Given the description of an element on the screen output the (x, y) to click on. 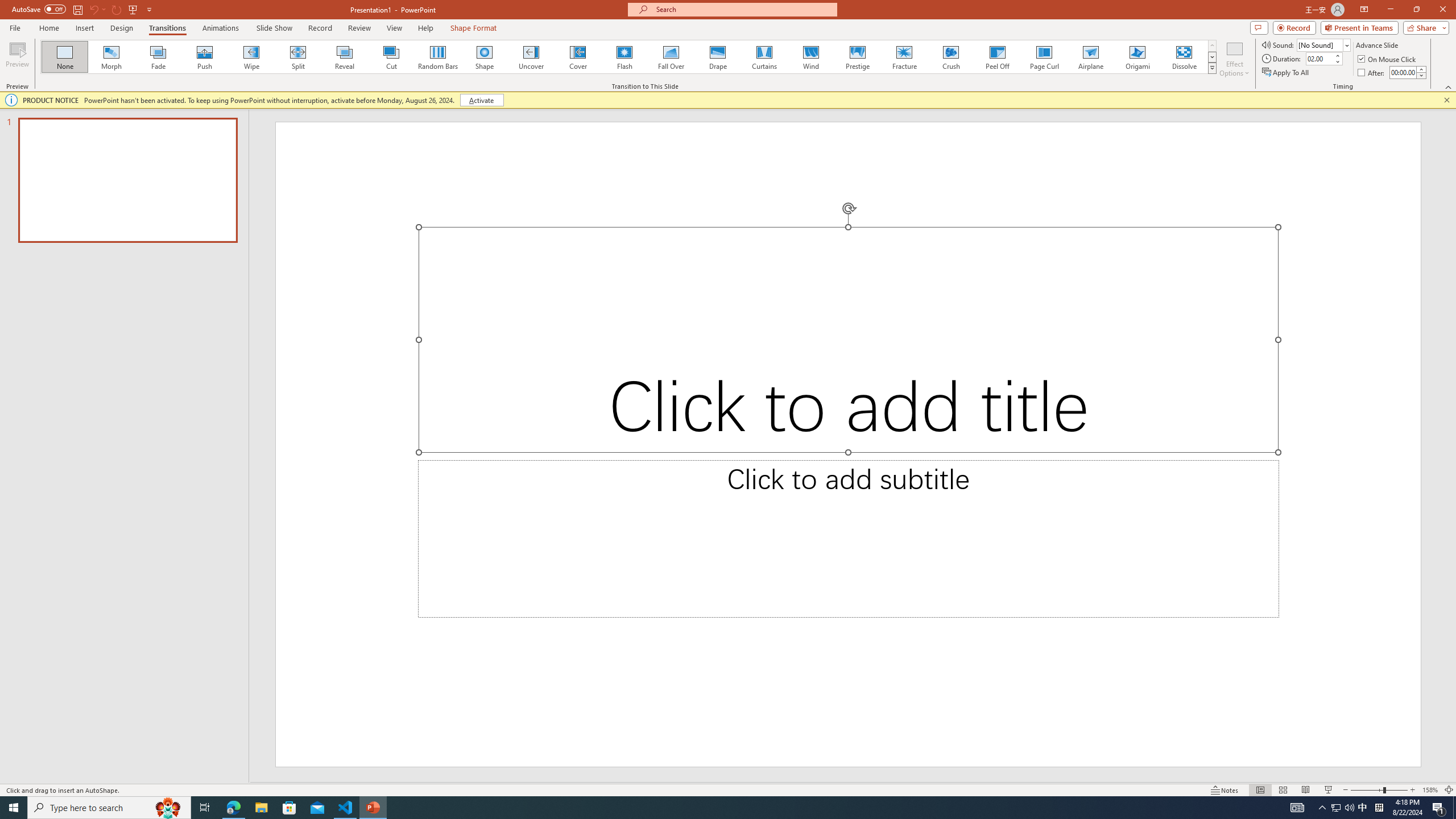
AutomationID: AnimationTransitionGallery (628, 56)
Activate (481, 100)
Fracture (903, 56)
Fade (158, 56)
None (65, 56)
On Mouse Click (1387, 58)
After (1403, 72)
